Given the description of an element on the screen output the (x, y) to click on. 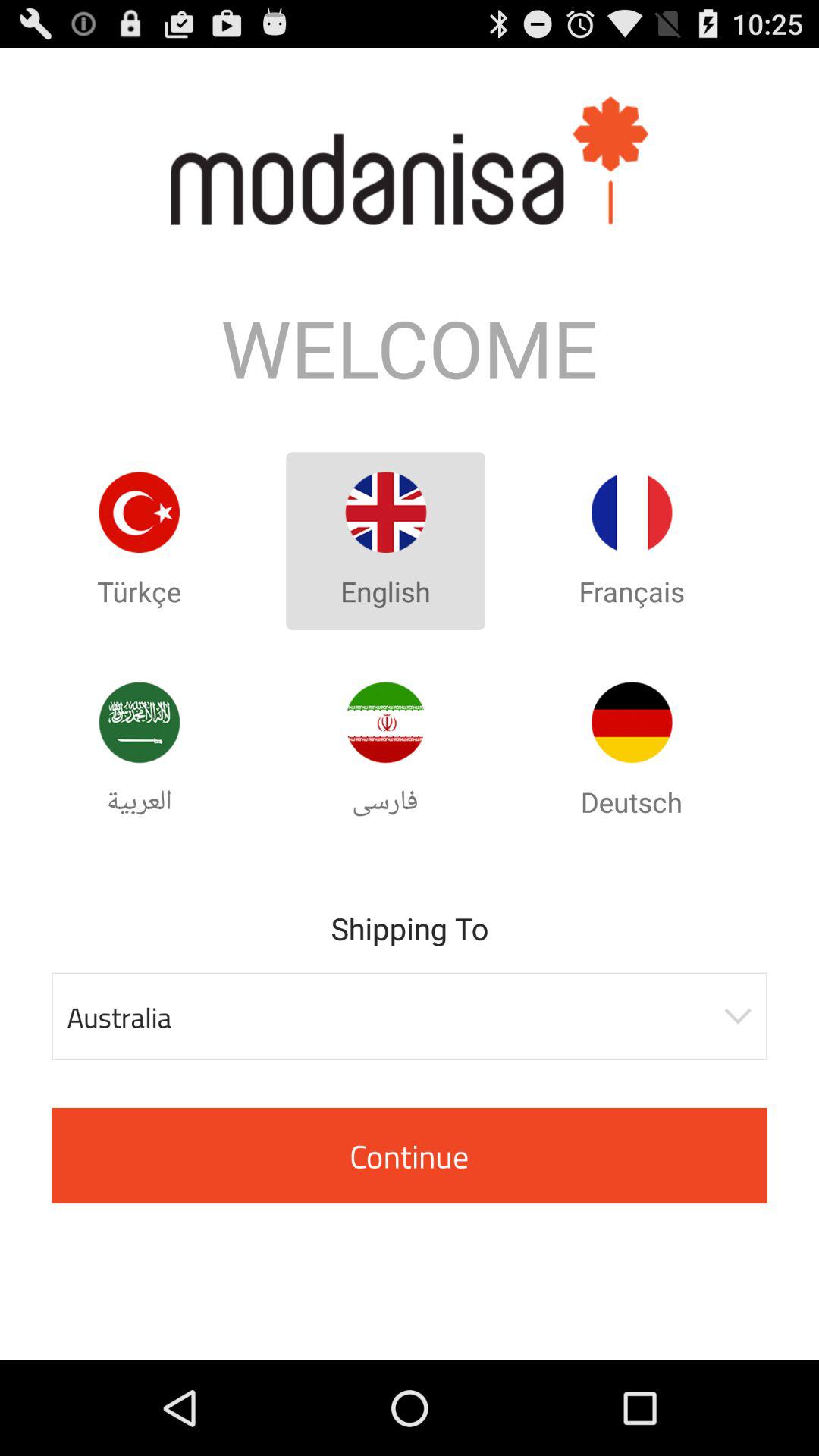
select arabic (385, 722)
